Given the description of an element on the screen output the (x, y) to click on. 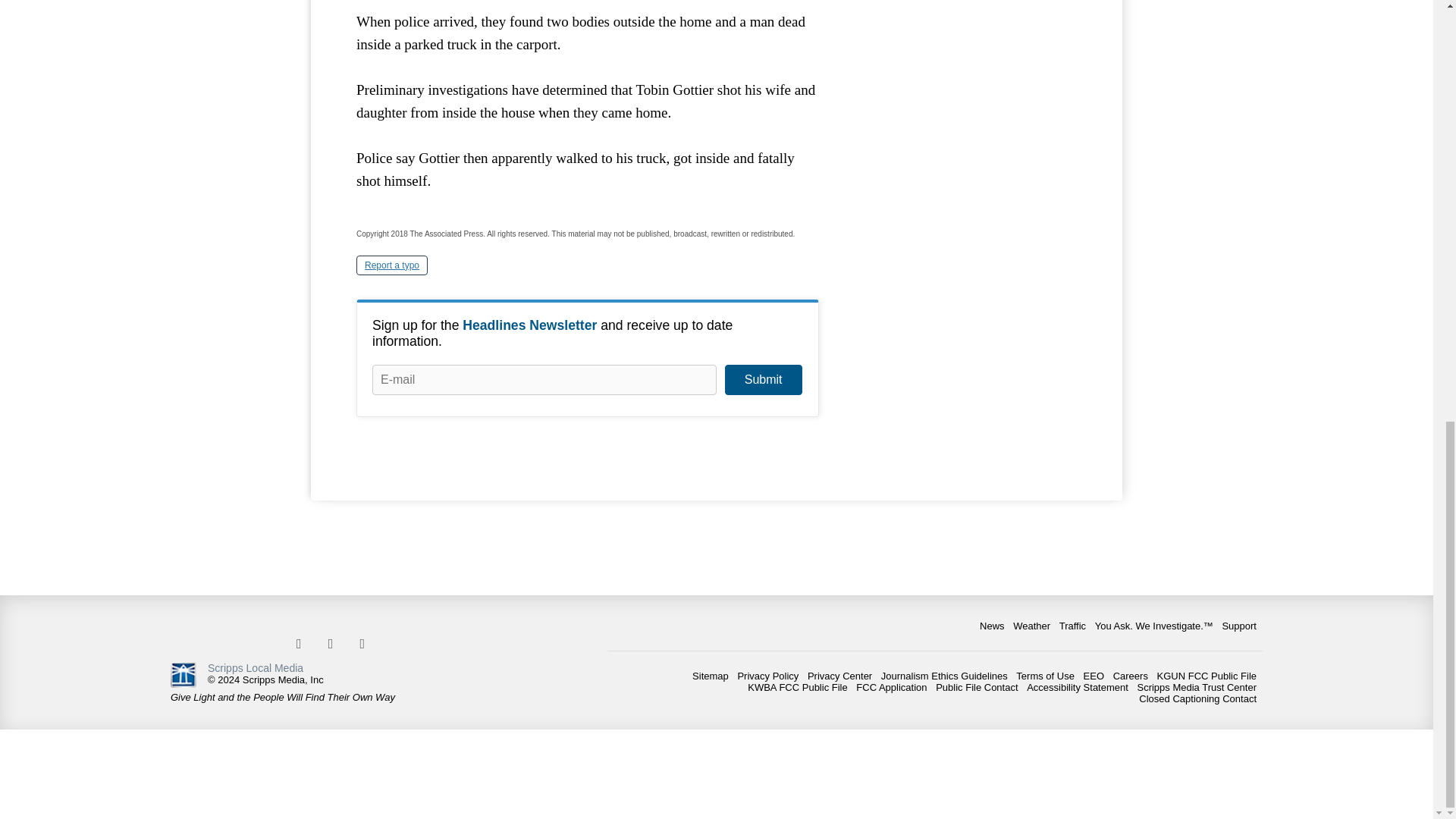
Submit (763, 379)
